Given the description of an element on the screen output the (x, y) to click on. 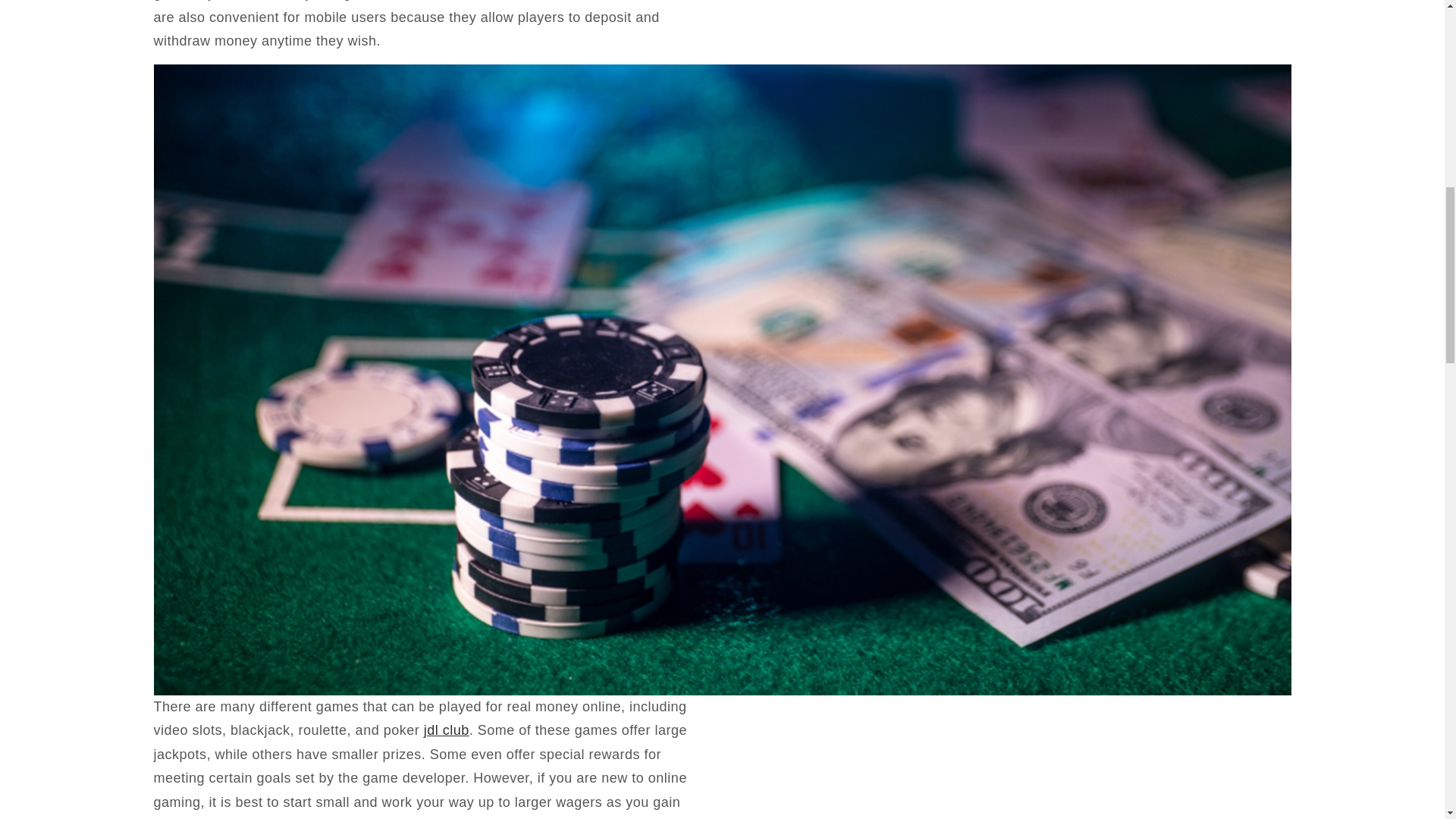
jdl club (445, 729)
